Given the description of an element on the screen output the (x, y) to click on. 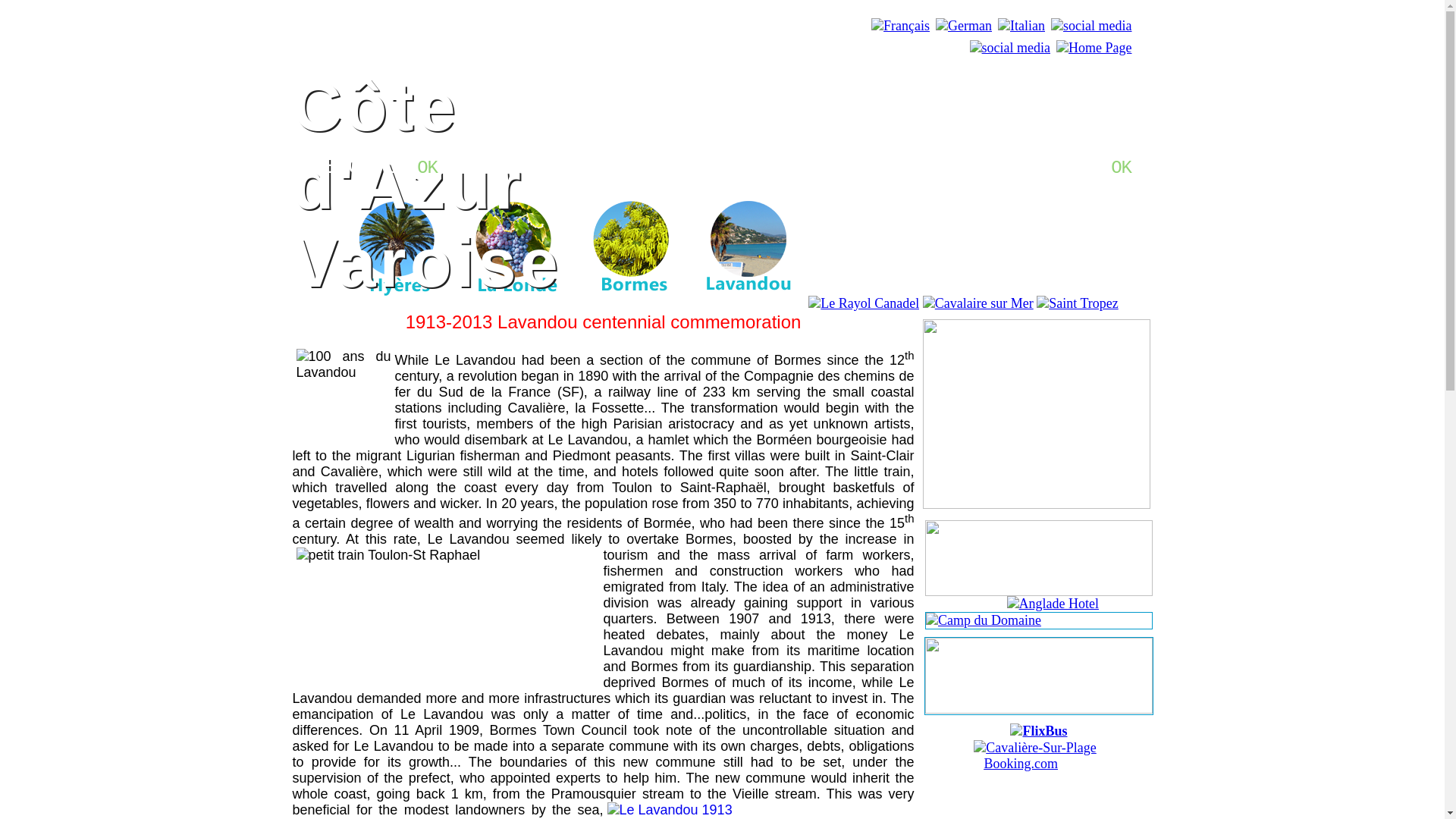
Webcams au Lavandou (427, 166)
OK (427, 166)
OK (1121, 166)
